Given the description of an element on the screen output the (x, y) to click on. 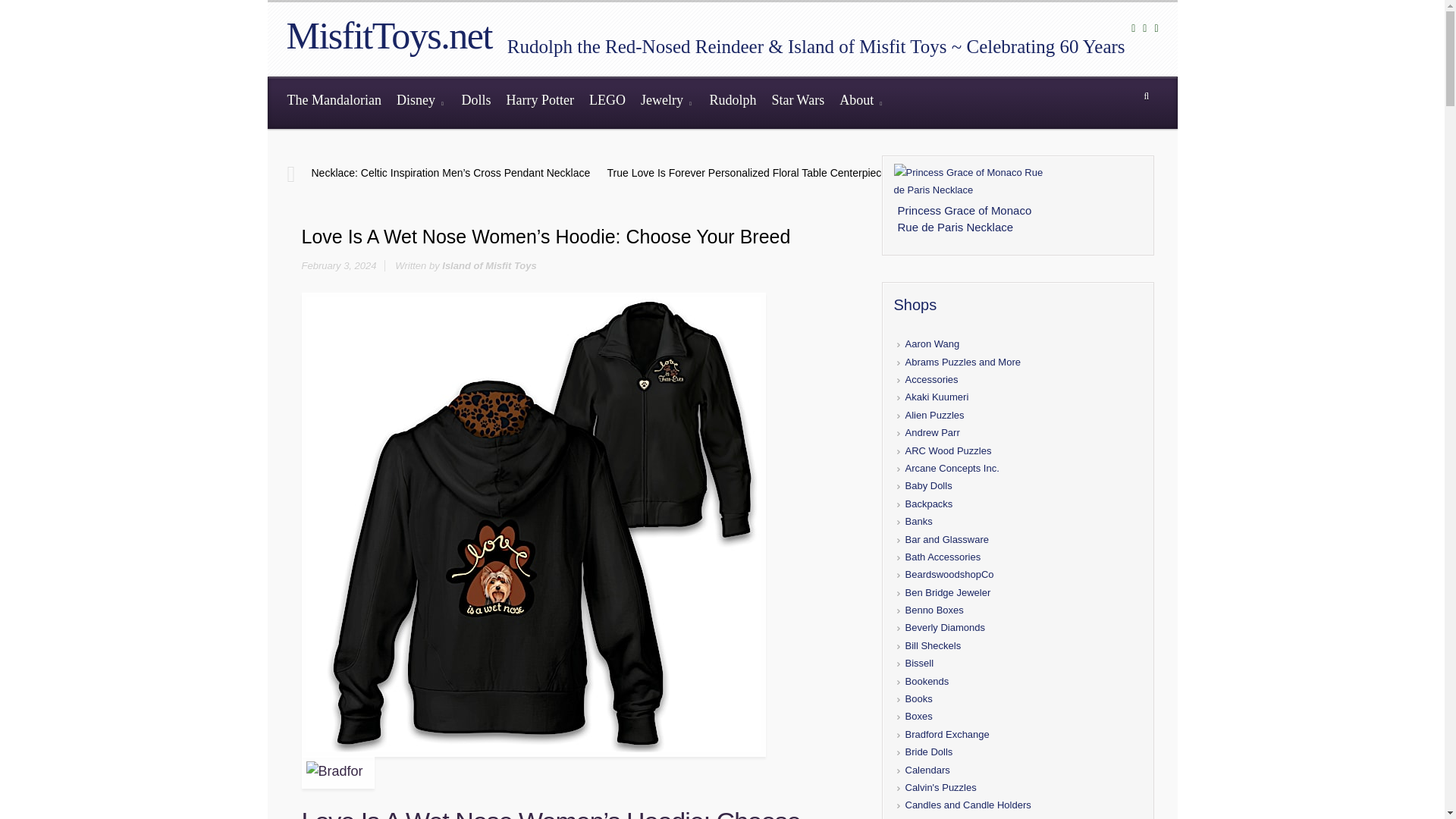
Rudolph (731, 101)
MisfitToys.net (389, 35)
About (861, 101)
Star Wars (796, 101)
The Mandalorian (333, 101)
Harry Potter (538, 101)
Disney (421, 101)
Star Wars (796, 101)
View all posts by Island of Misfit Toys (488, 265)
Jewelry (667, 101)
Disney (421, 101)
Jewelry (667, 101)
The Mandalorian (333, 101)
Harry Potter (538, 101)
About (861, 101)
